Given the description of an element on the screen output the (x, y) to click on. 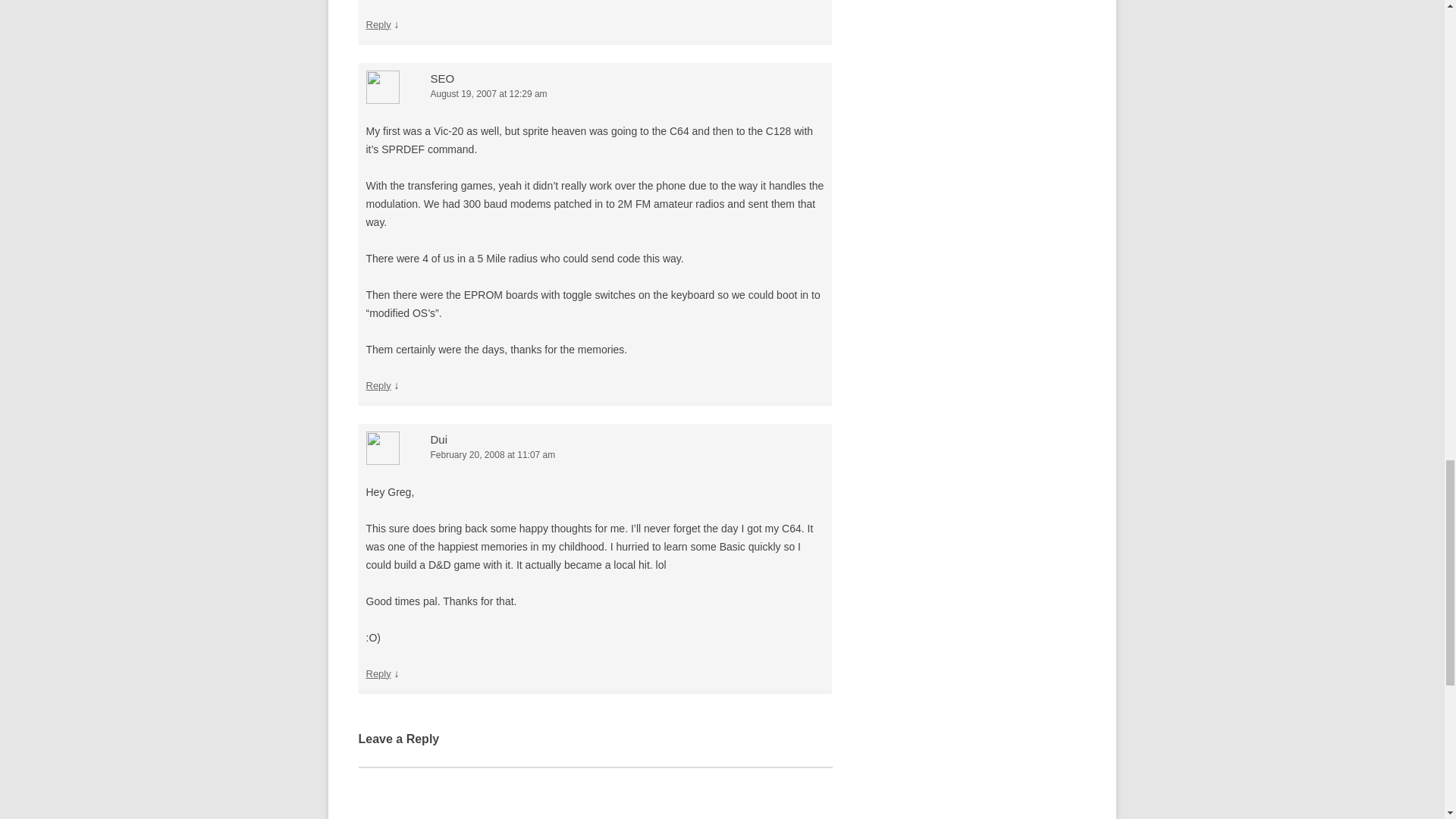
SEO (442, 78)
Reply (377, 673)
Reply (377, 24)
August 19, 2007 at 12:29 am (594, 94)
Reply (377, 385)
February 20, 2008 at 11:07 am (594, 455)
